Given the description of an element on the screen output the (x, y) to click on. 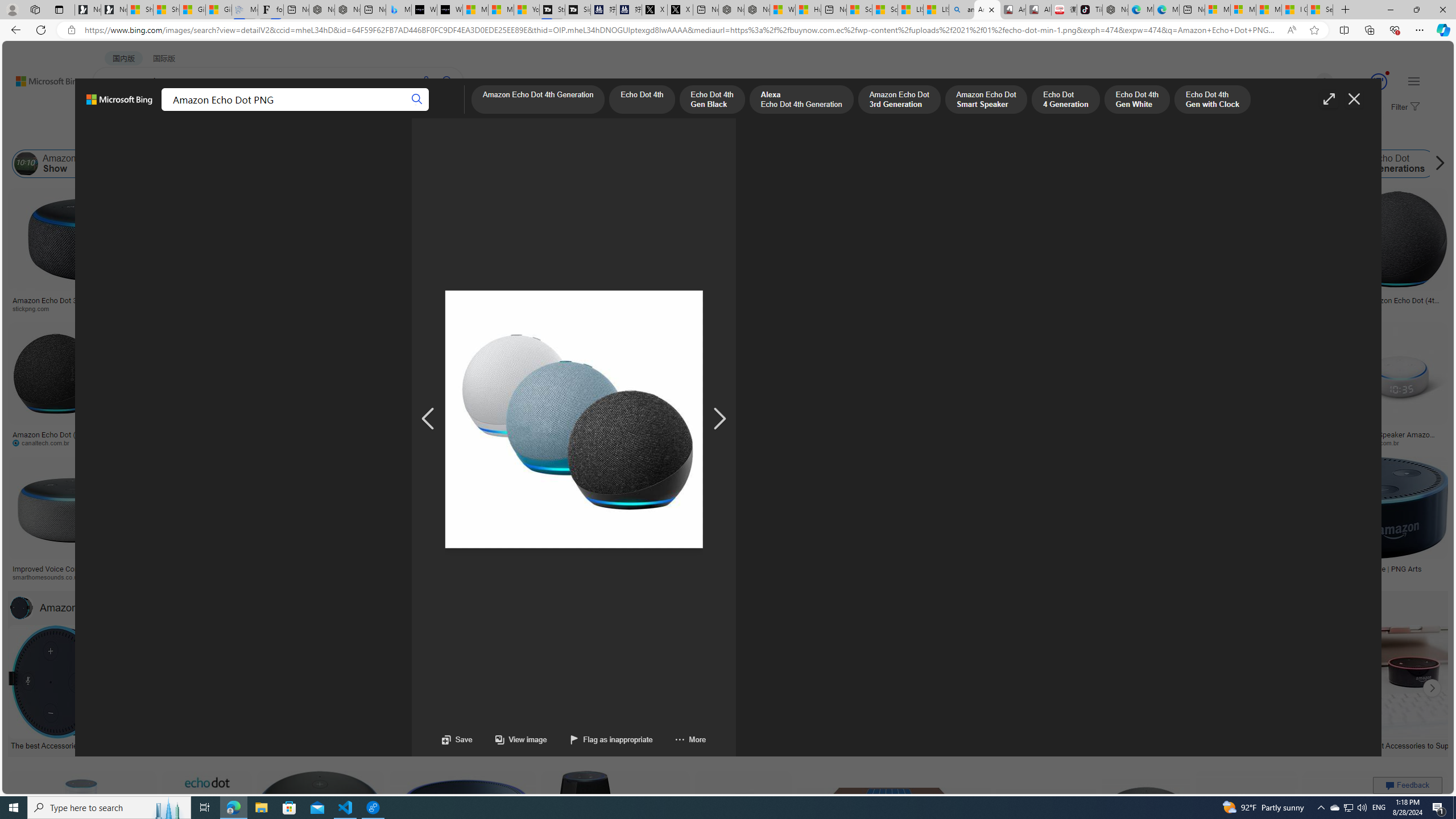
Amazon Echo Dot Kids Edition - 5th Generation (794, 572)
smarthomesounds.co.uk (73, 576)
Amazon Echo Show (61, 163)
Color (173, 135)
winmaec.com (1128, 442)
Type (212, 135)
buynow.com.ec (601, 442)
